Given the description of an element on the screen output the (x, y) to click on. 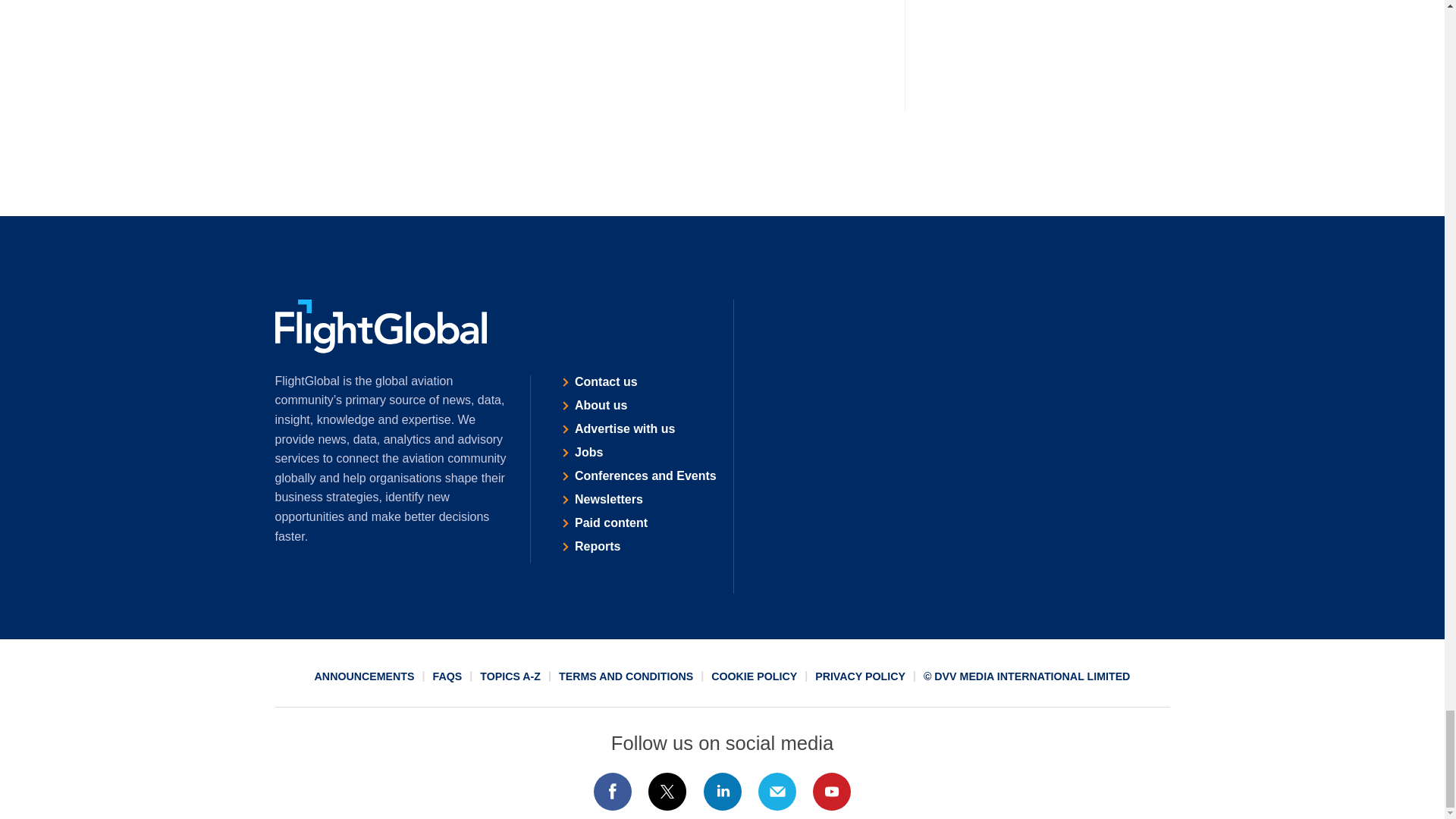
Email us (776, 791)
Connect with us on Linked In (721, 791)
Connect with us on Twitter (667, 791)
Connect with us on Facebook (611, 791)
Connect with us on Youtube (831, 791)
